Given the description of an element on the screen output the (x, y) to click on. 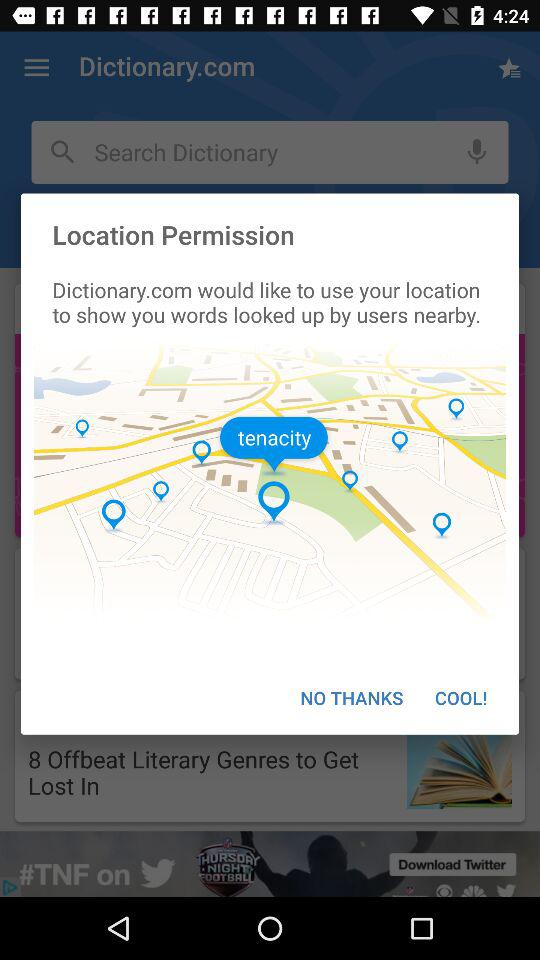
launch the icon to the right of the no thanks icon (461, 697)
